Given the description of an element on the screen output the (x, y) to click on. 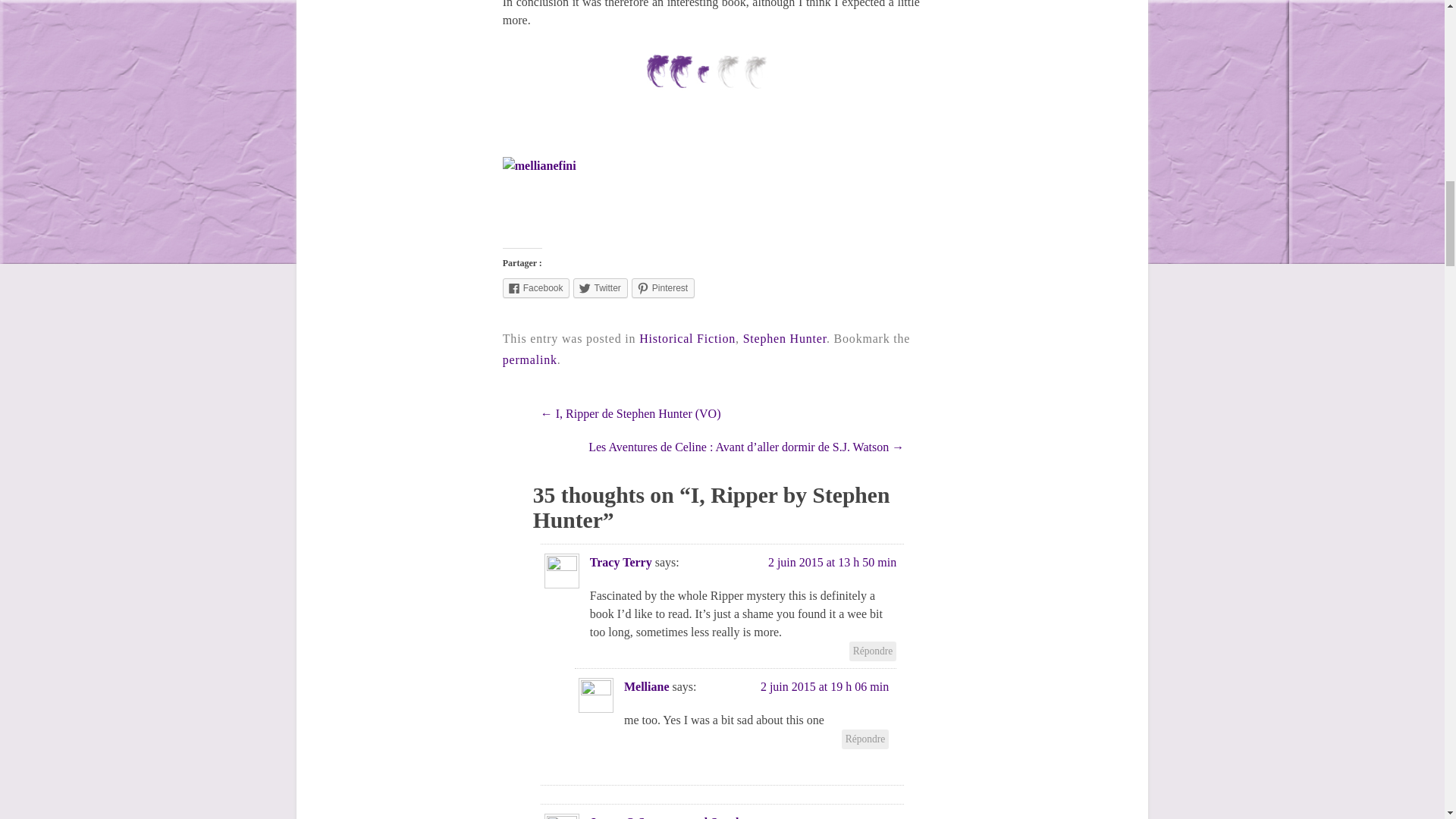
Cliquez pour partager sur Pinterest (662, 288)
Facebook (536, 288)
Cliquez pour partager sur Twitter (600, 288)
Permalink to I, Ripper by Stephen Hunter (529, 359)
Melliane (646, 686)
Twitter (600, 288)
permalink (529, 359)
2 juin 2015 at 13 h 50 min (832, 562)
2 juin 2015 at 19 h 06 min (824, 686)
Pinterest (662, 288)
